Given the description of an element on the screen output the (x, y) to click on. 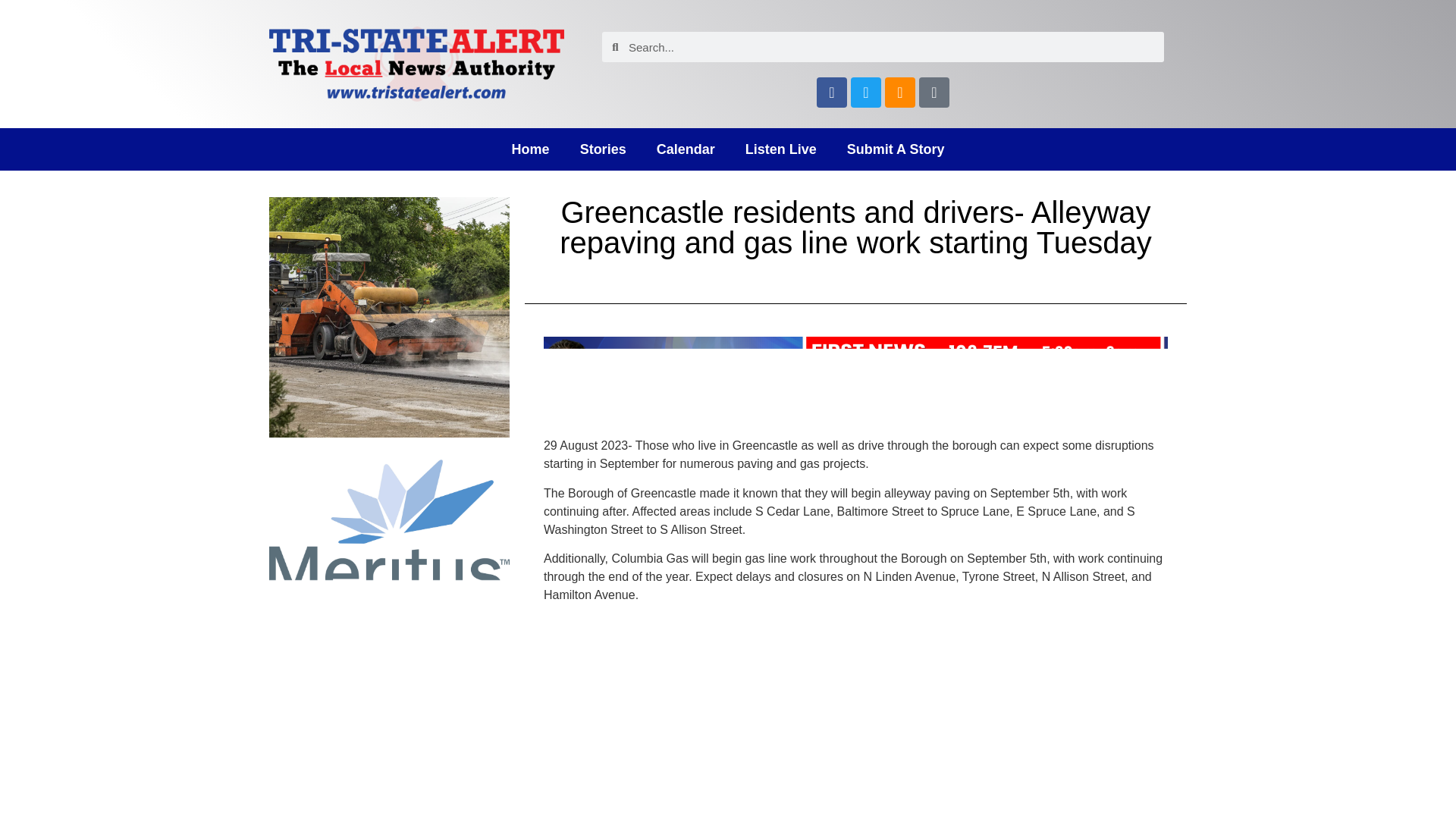
Listen Live (780, 148)
Stories (603, 148)
Submit A Story (895, 148)
Calendar (686, 148)
Home (530, 148)
